Given the description of an element on the screen output the (x, y) to click on. 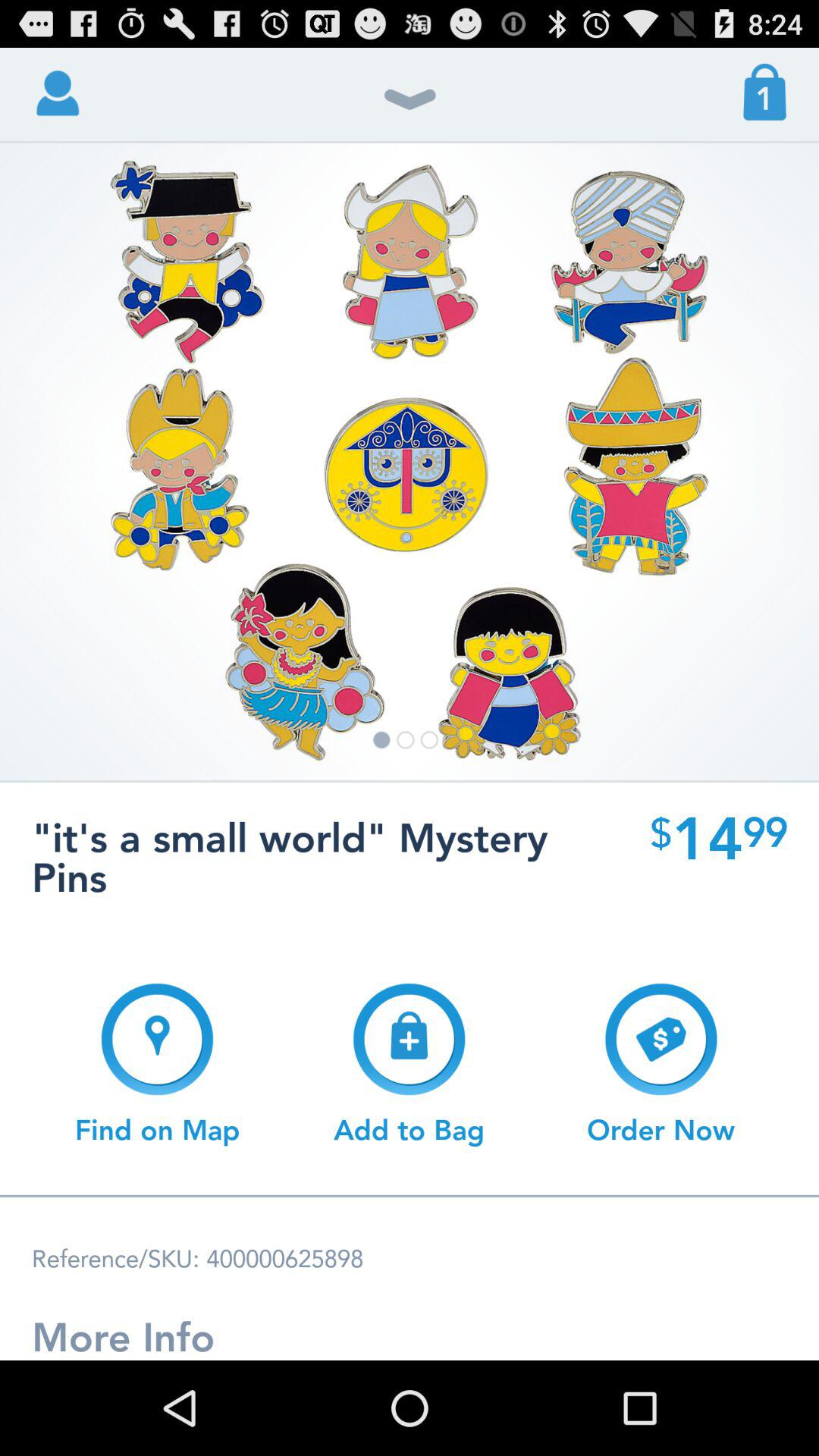
turn on the item to the left of the 1 app (409, 107)
